Given the description of an element on the screen output the (x, y) to click on. 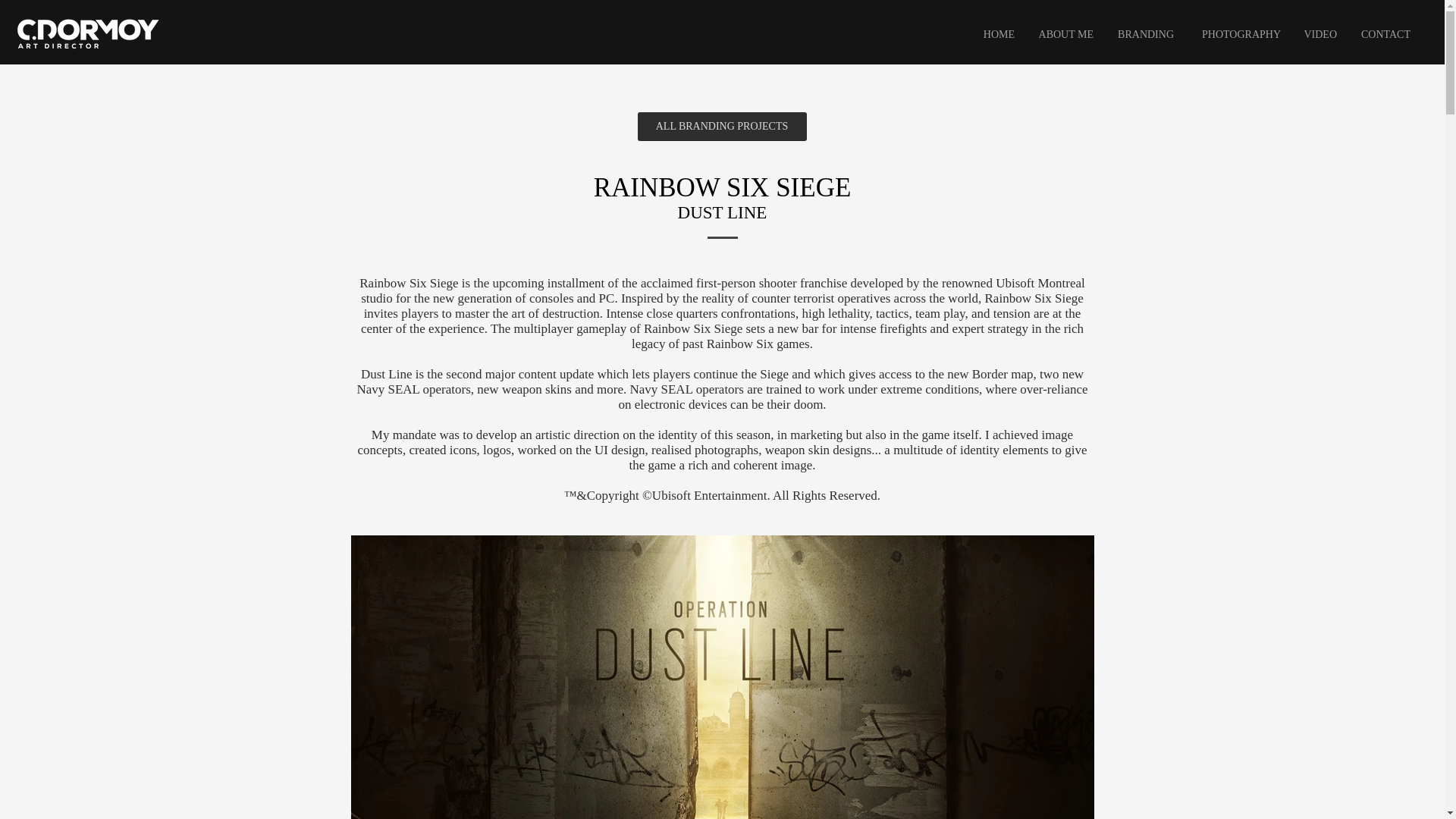
HOME (998, 34)
VIDEO (1320, 34)
PHOTOGRAPHY (1238, 34)
CONTACT (1385, 34)
ALL BRANDING PROJECTS (721, 126)
BRANDING (1145, 34)
ABOUT ME (1065, 34)
